Given the description of an element on the screen output the (x, y) to click on. 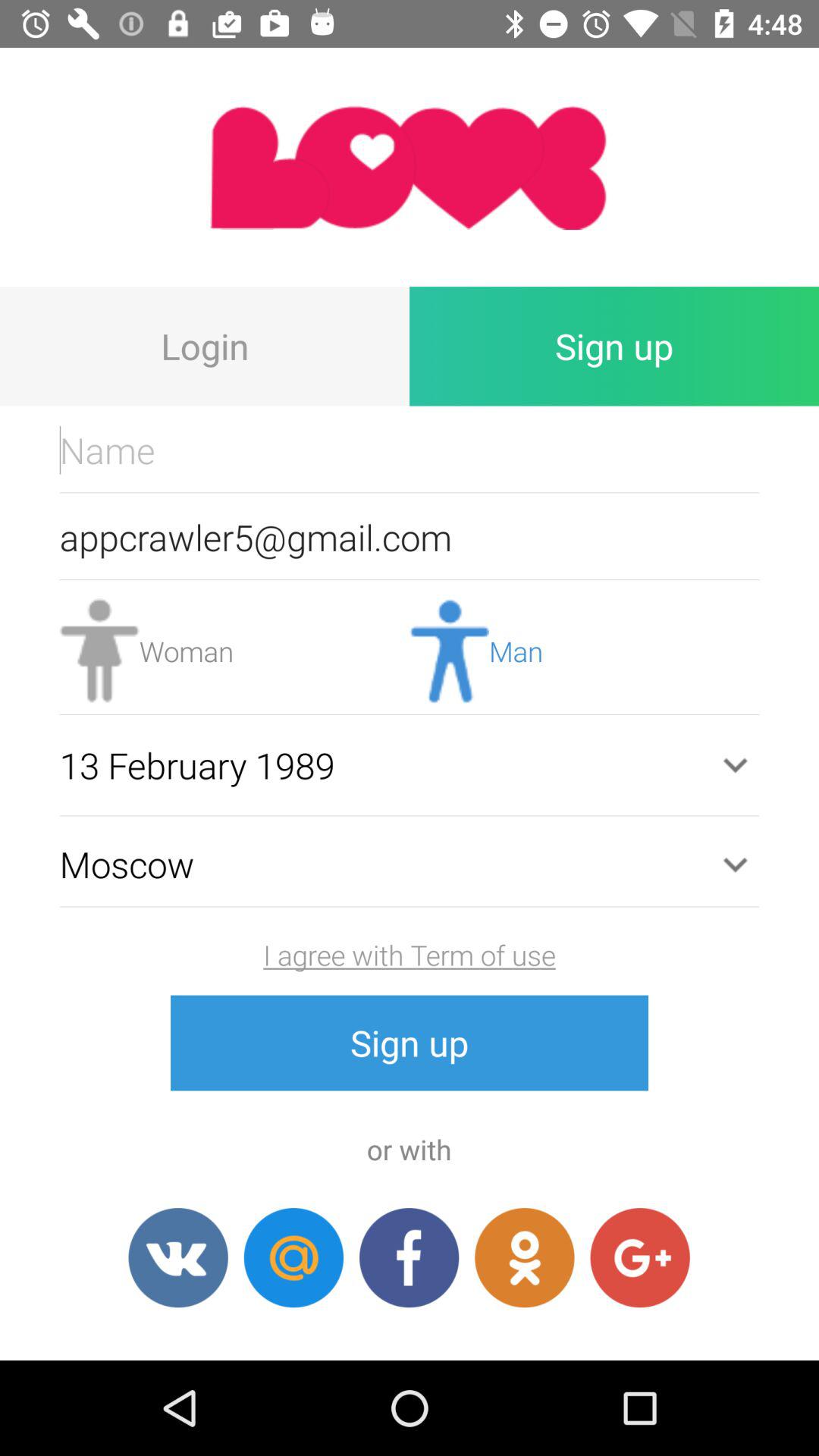
share (524, 1257)
